Given the description of an element on the screen output the (x, y) to click on. 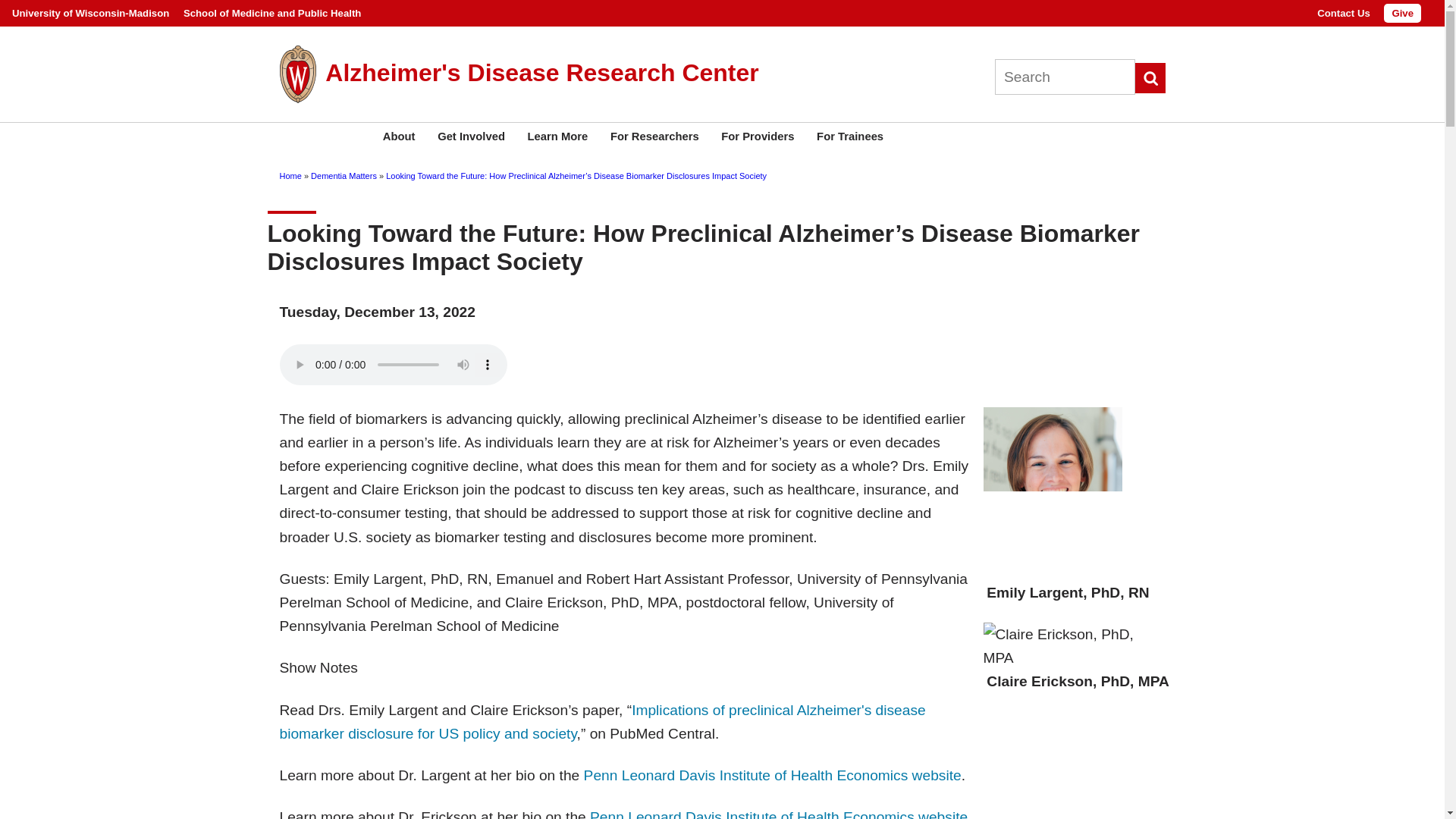
Alzheimer's Disease Research Center (541, 72)
University of Wisconsin-Madison (89, 12)
School of Medicine and Public Health (272, 12)
Home (541, 72)
Give (1402, 13)
Get Involved (470, 136)
Search (1149, 78)
About (398, 136)
Learn More (557, 136)
Contact Us (1343, 12)
